Given the description of an element on the screen output the (x, y) to click on. 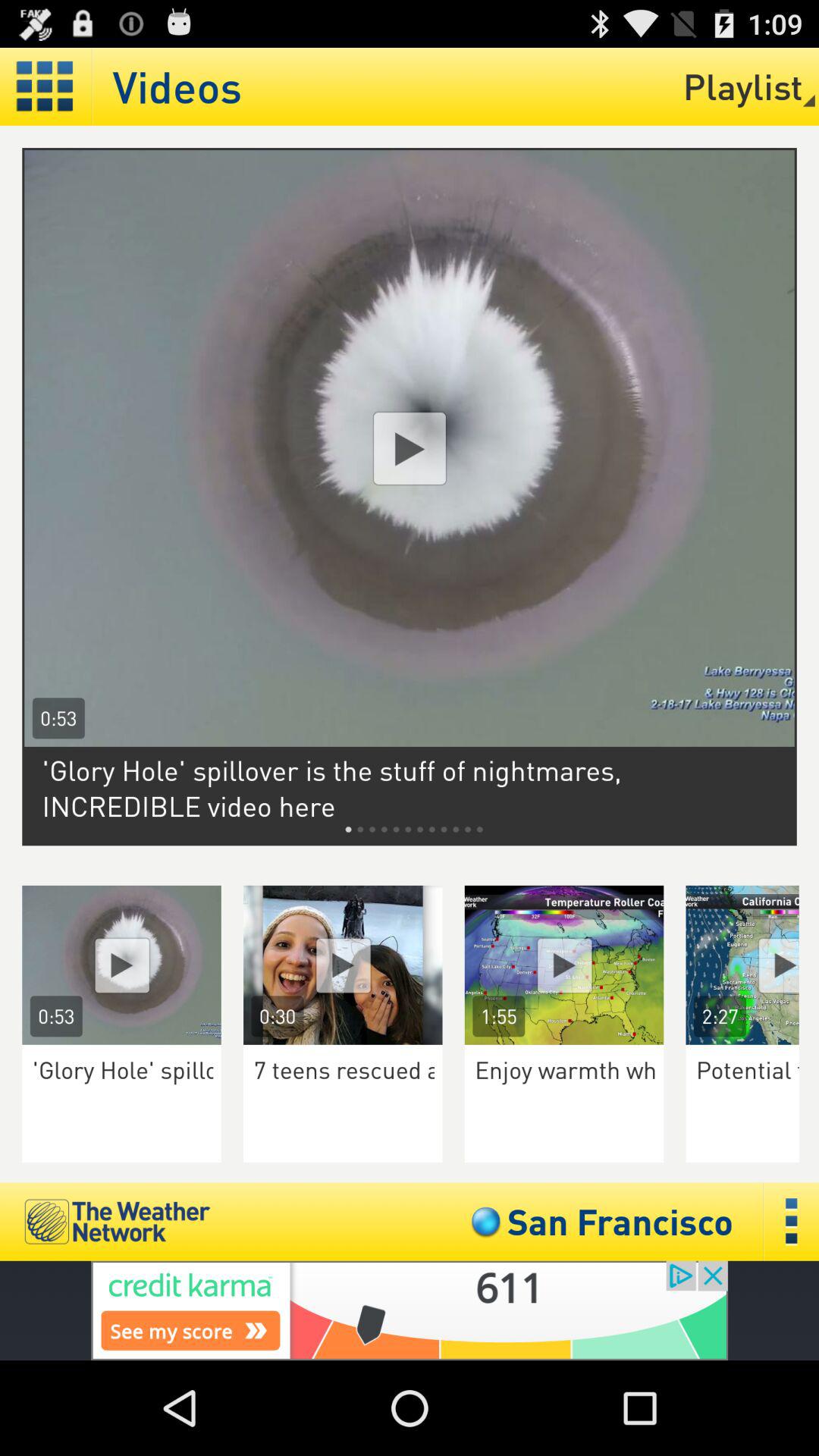
open advertisement (409, 1310)
